Given the description of an element on the screen output the (x, y) to click on. 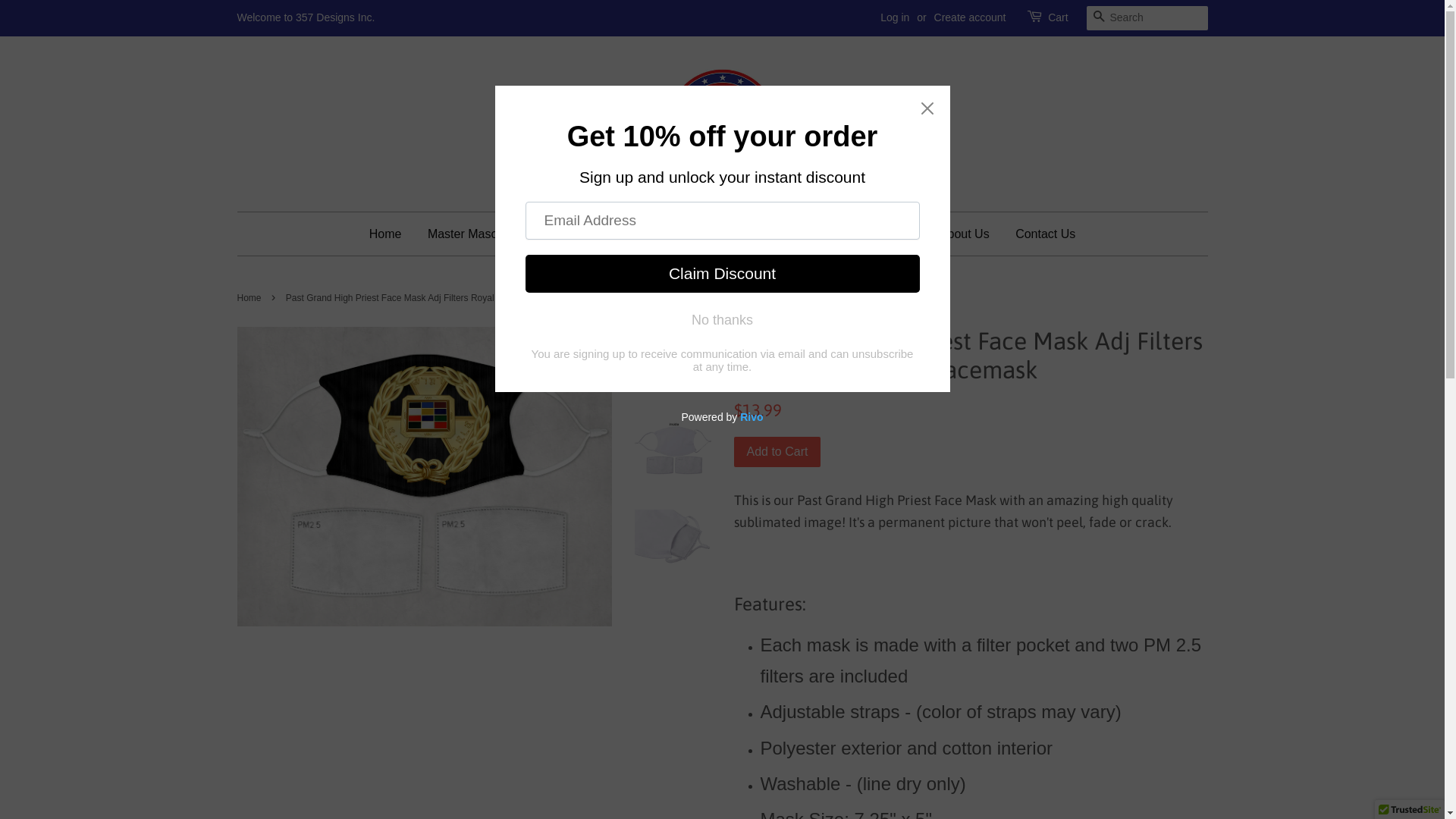
OES Element type: text (560, 233)
Scottish Rite Element type: text (645, 233)
Shrine Element type: text (821, 233)
Add to Cart Element type: text (777, 451)
Home Element type: text (250, 297)
Cart Element type: text (1057, 18)
Search Element type: text (1097, 15)
Contact Us Element type: text (1039, 233)
Create account Element type: text (970, 17)
Master Mason Element type: text (471, 233)
Home Element type: text (391, 233)
York Rite Element type: text (742, 233)
About Us Element type: text (964, 233)
Log in Element type: text (894, 17)
Other Element type: text (891, 233)
